Given the description of an element on the screen output the (x, y) to click on. 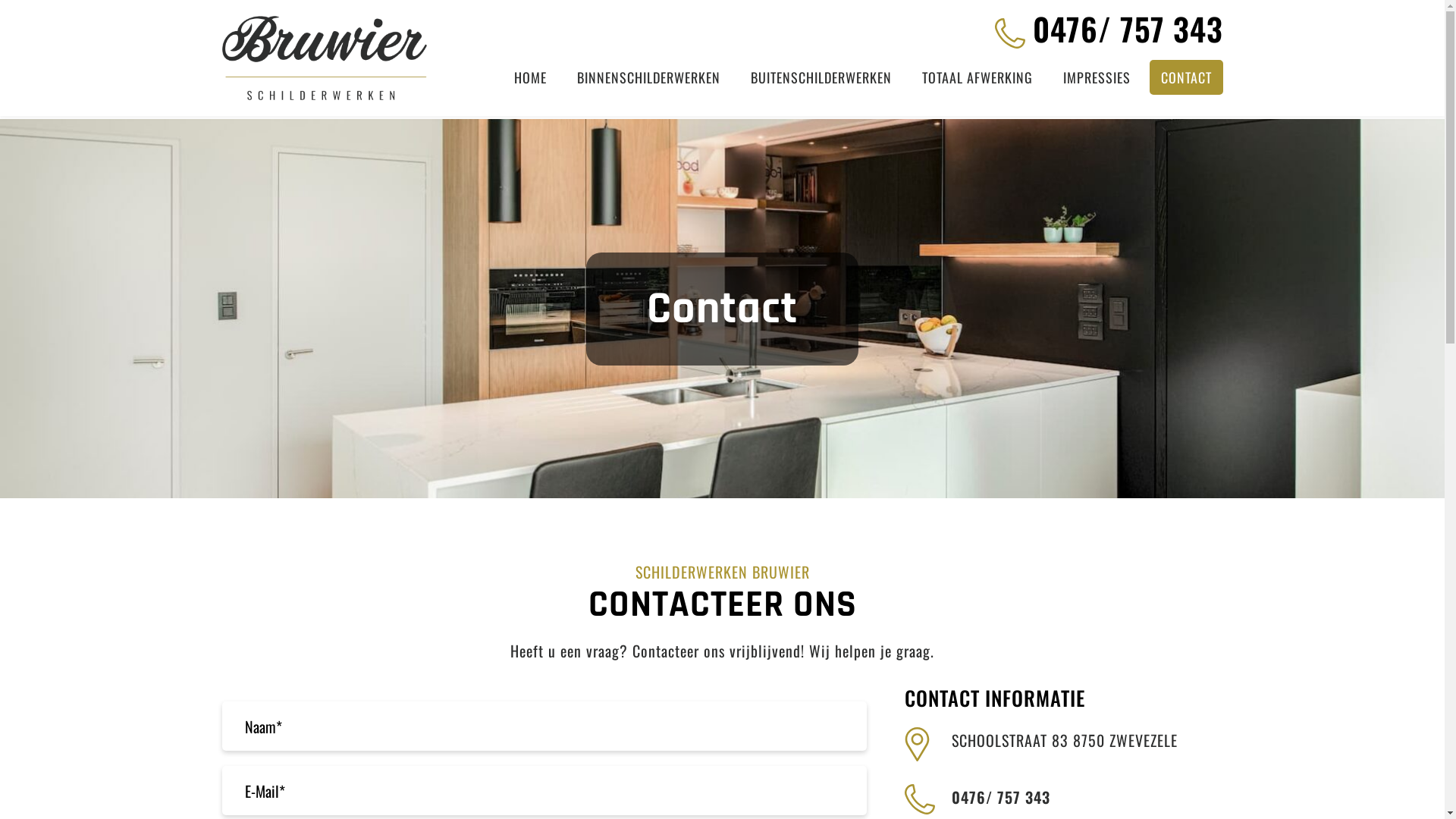
BUITENSCHILDERWERKEN Element type: text (820, 77)
TOTAAL AFWERKING Element type: text (976, 77)
0476/ 757 343 Element type: text (1108, 28)
0476/ 757 343 Element type: text (999, 796)
CONTACT Element type: text (1186, 77)
HOME Element type: text (529, 77)
IMPRESSIES Element type: text (1096, 77)
BINNENSCHILDERWERKEN Element type: text (648, 77)
